Given the description of an element on the screen output the (x, y) to click on. 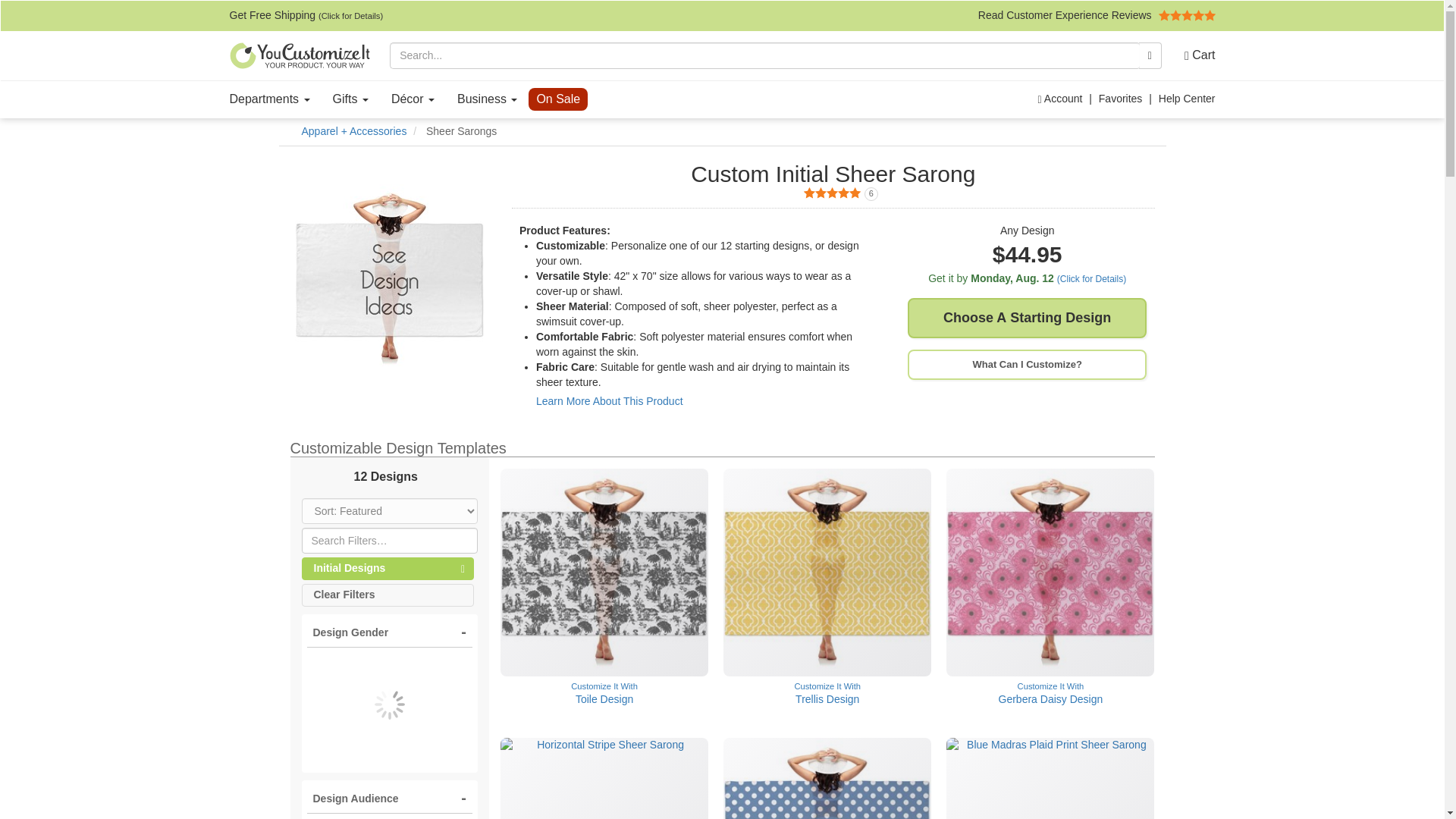
Departments (269, 99)
Choose A Starting Design (1027, 318)
Cart (1194, 55)
Gifts (350, 99)
Calculate Shipping (1027, 278)
Business (486, 99)
Read Customer Experience Reviews (1096, 15)
Learn More About This Product (833, 194)
